Given the description of an element on the screen output the (x, y) to click on. 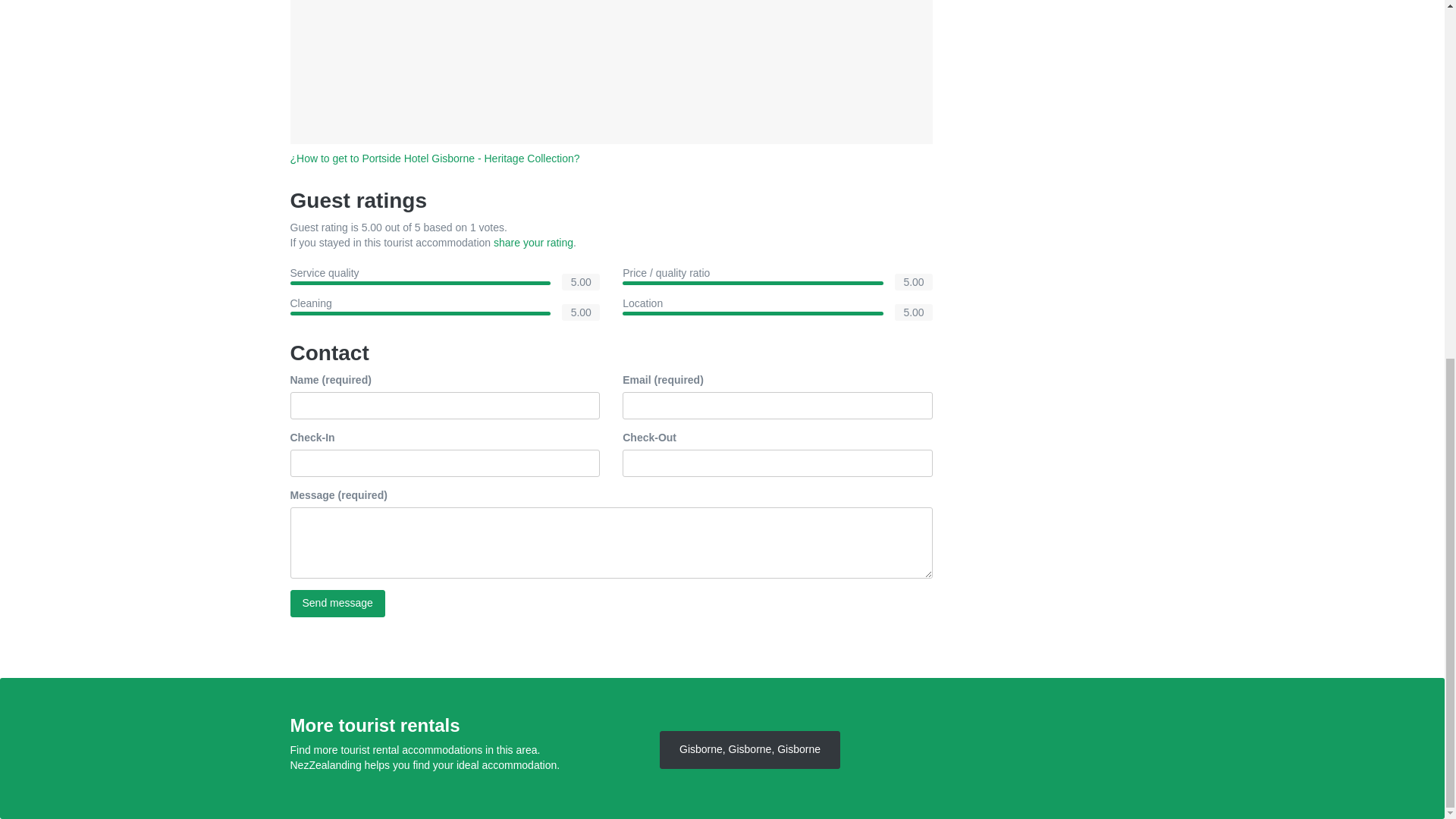
Send message (336, 603)
Gisborne, Gisborne, Gisborne (749, 750)
share your rating (533, 242)
